Given the description of an element on the screen output the (x, y) to click on. 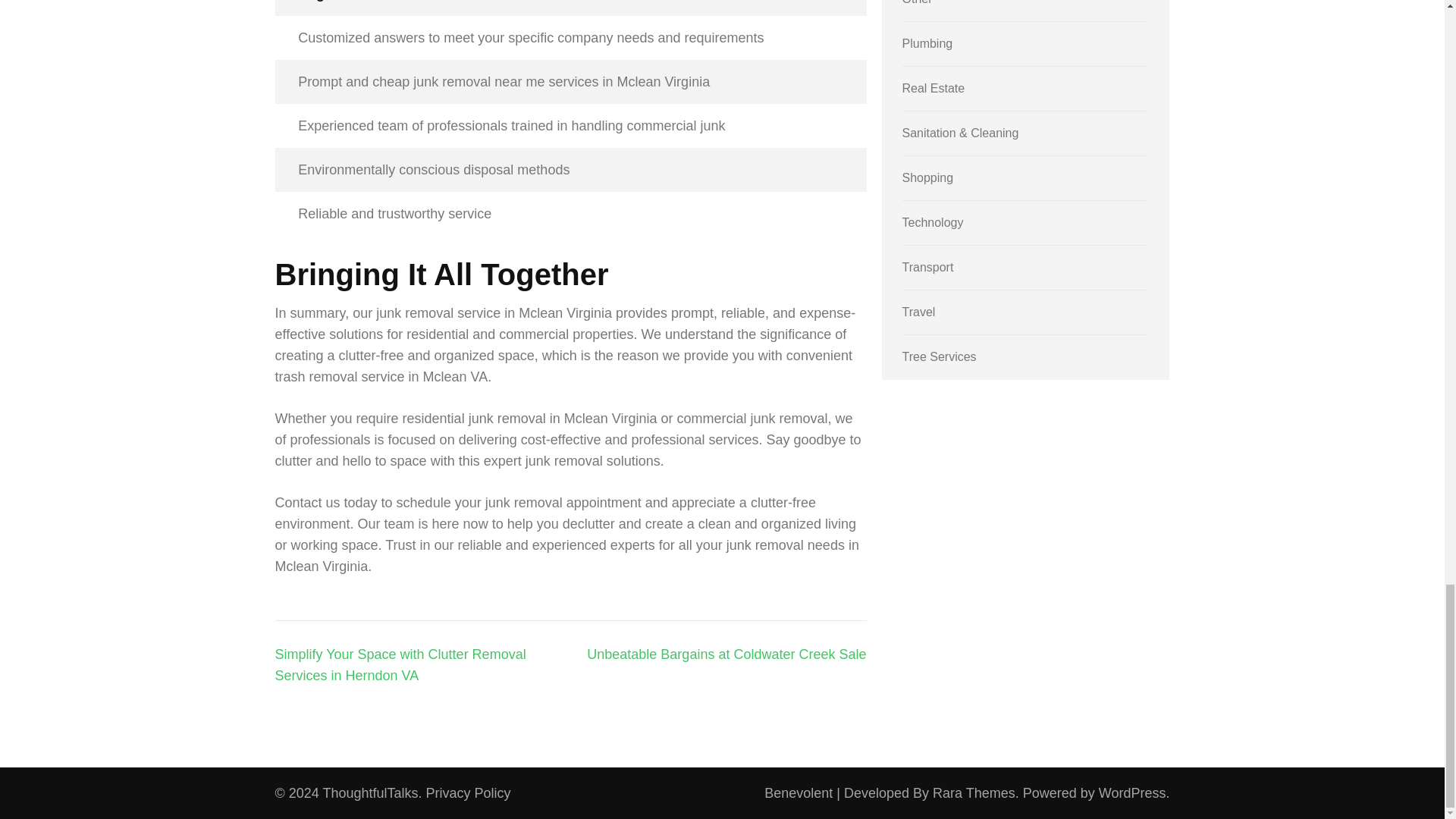
Unbeatable Bargains at Coldwater Creek Sale (726, 654)
